Given the description of an element on the screen output the (x, y) to click on. 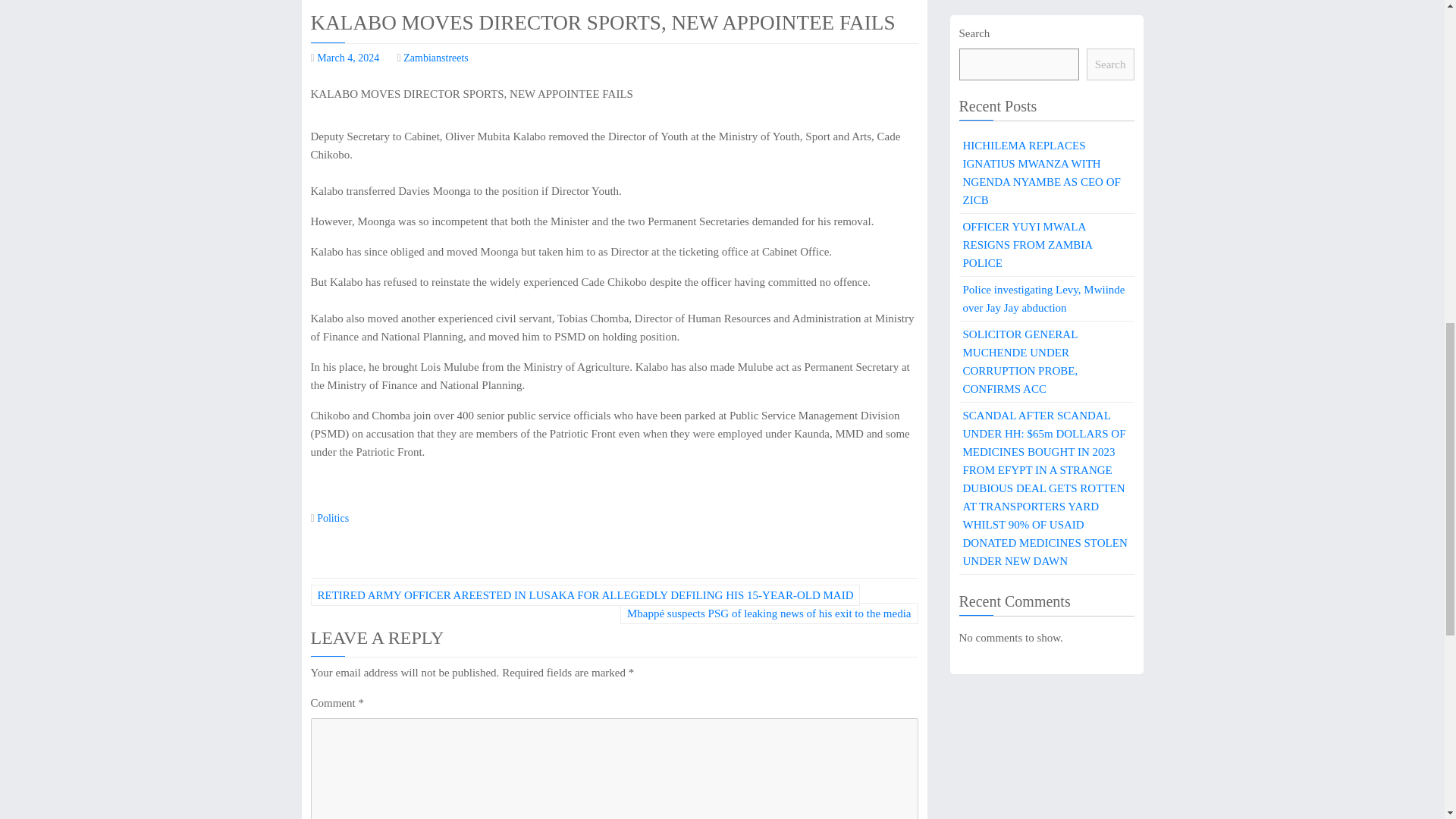
Politics (333, 518)
March 4, 2024 (347, 57)
Zambianstreets (435, 57)
